Given the description of an element on the screen output the (x, y) to click on. 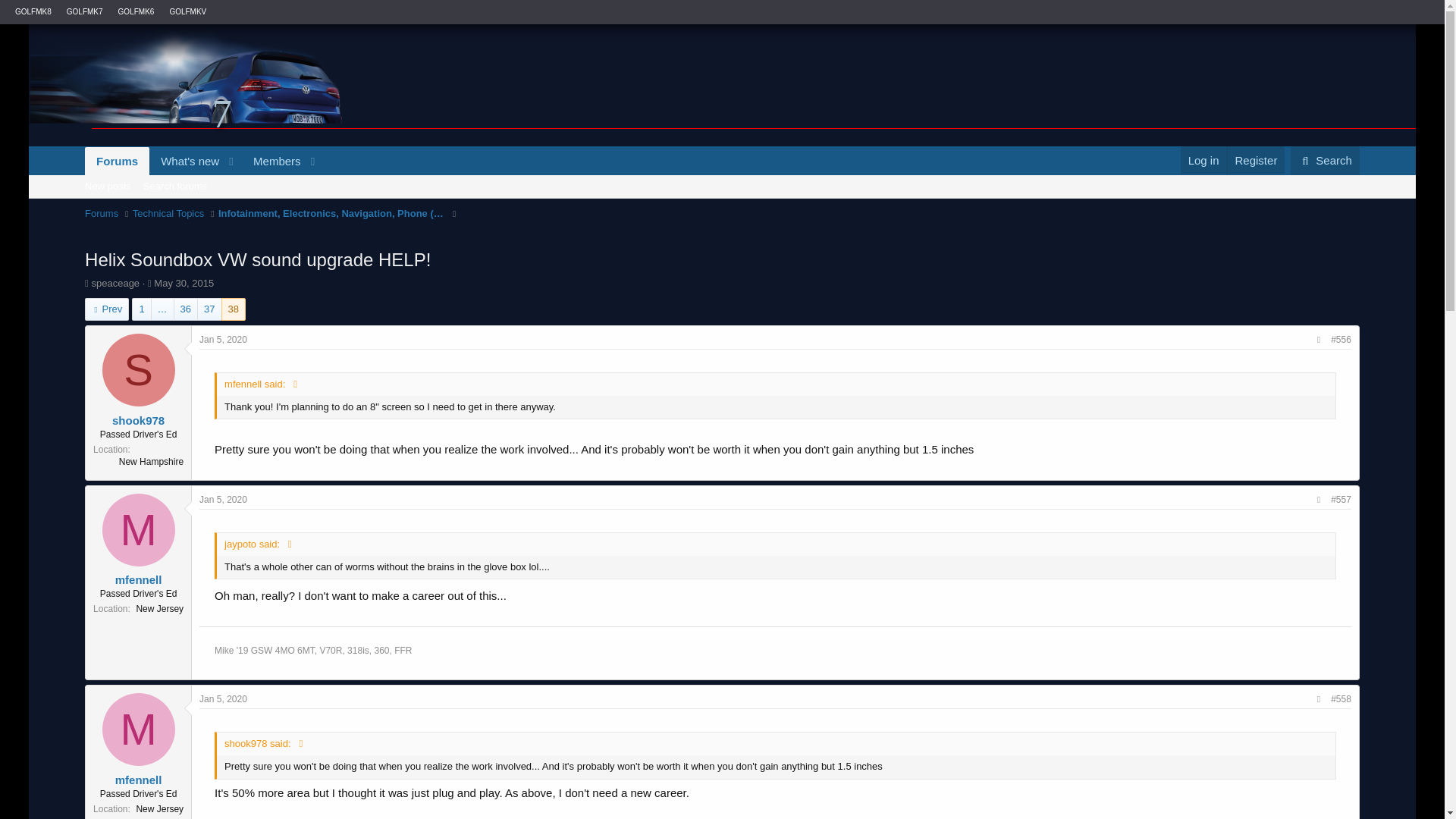
Jan 5, 2020 at 9:32 AM (223, 499)
speaceage (114, 283)
Log in (1203, 159)
Jan 5, 2020 at 9:32 AM (223, 339)
GOLFMKV (187, 11)
Forums (100, 213)
Go to page (162, 309)
May 30, 2015 at 10:07 AM (184, 283)
Jan 5, 2020 at 9:38 AM (223, 698)
